Given the description of an element on the screen output the (x, y) to click on. 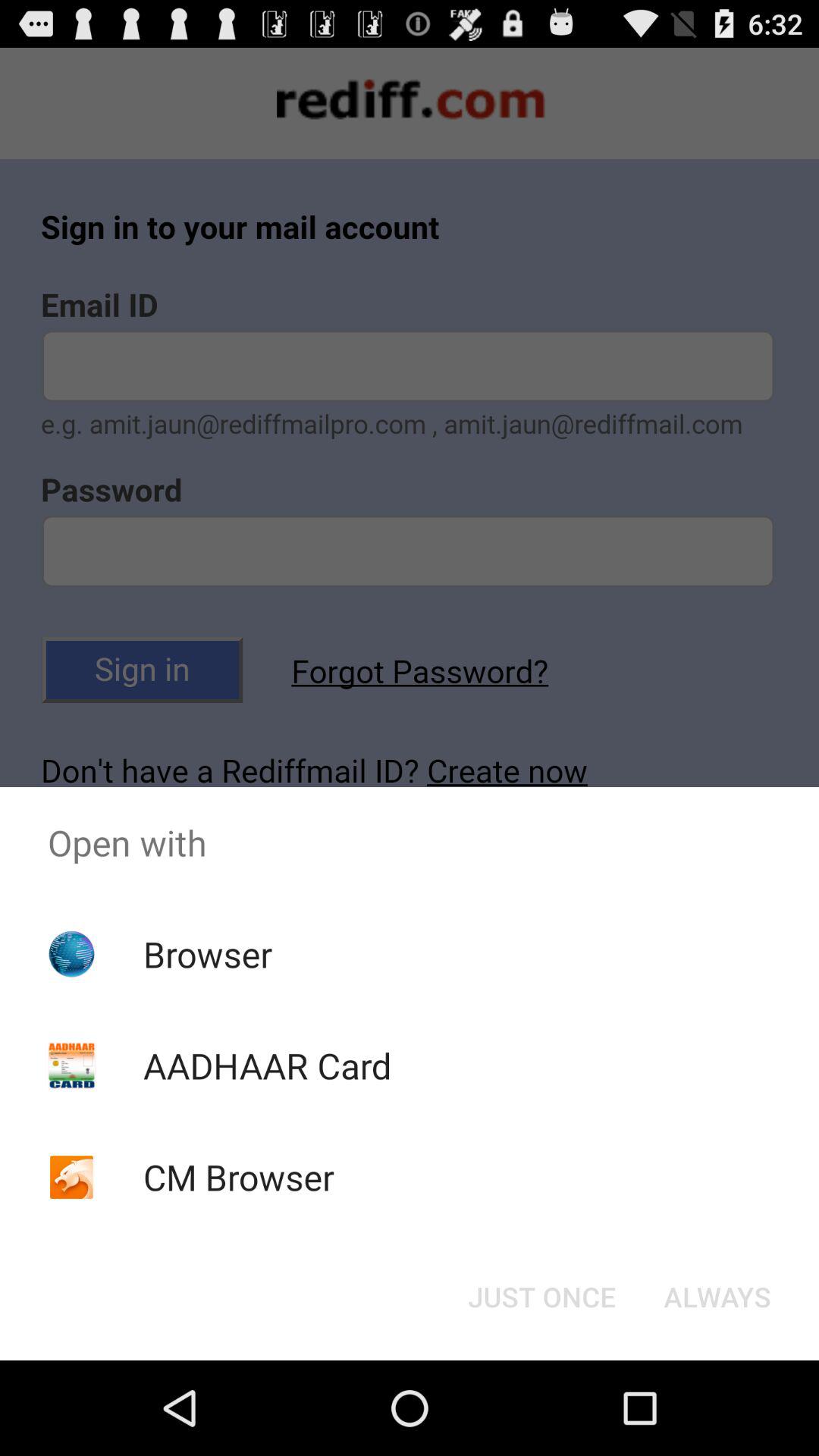
click item at the bottom (541, 1296)
